Given the description of an element on the screen output the (x, y) to click on. 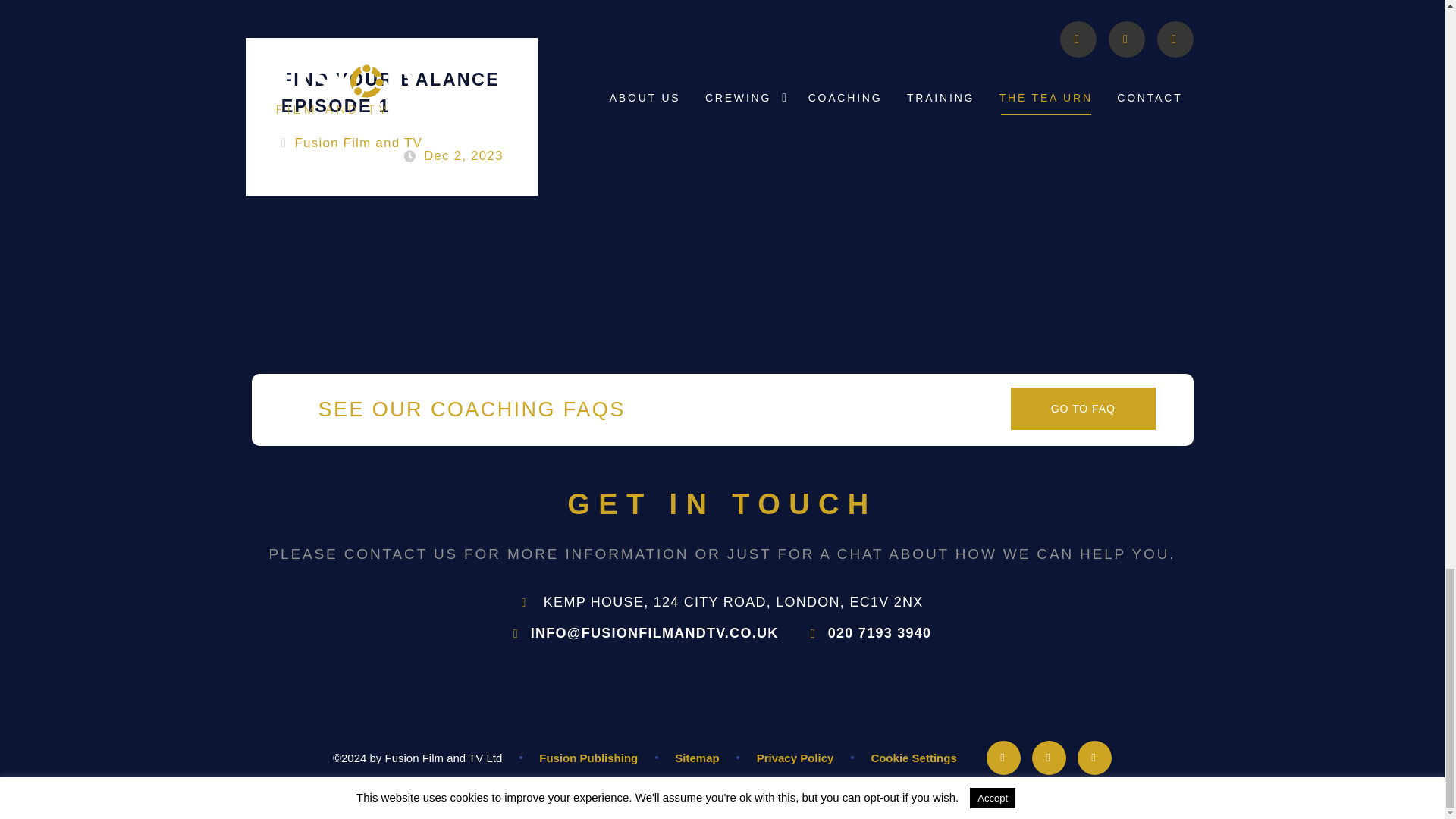
Privacy Policy (795, 757)
Sitemap (697, 757)
Instagram (1003, 757)
Find Your Balance Episode 1 (391, 98)
Follow Us On Facebook (391, 98)
Fusion Publishing (1048, 757)
Cookie Settings (587, 757)
email (913, 757)
phone (645, 633)
